Given the description of an element on the screen output the (x, y) to click on. 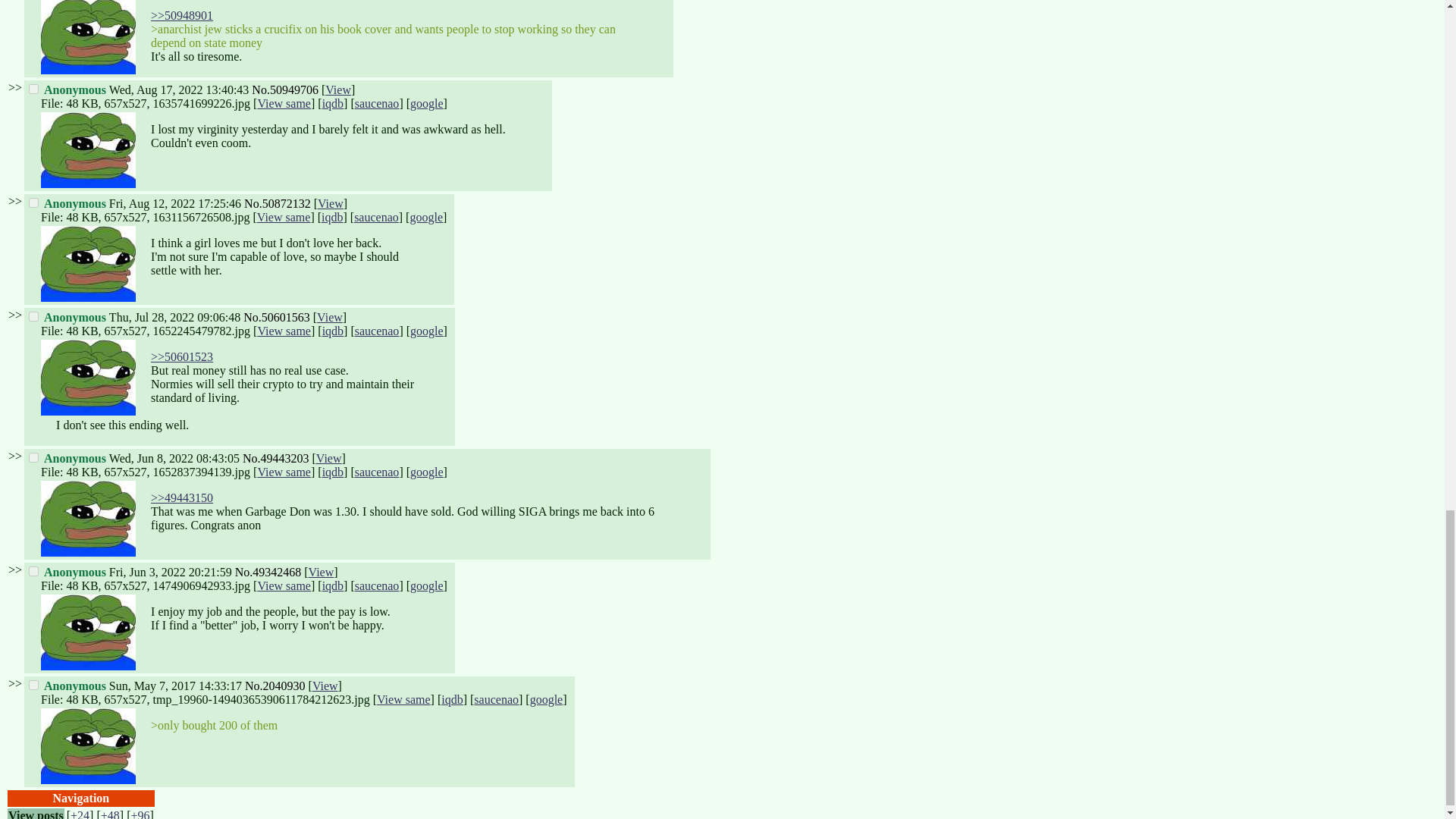
50949706,0 (34, 89)
1654258919000 (170, 571)
1660714843000 (178, 89)
50872132,0 (34, 203)
2040930,0 (34, 685)
49342468,0 (34, 571)
1494138797000 (175, 685)
1658970408000 (174, 317)
49443203,0 (34, 457)
1654648985000 (174, 458)
1660296346000 (175, 203)
50601563,0 (34, 316)
